Given the description of an element on the screen output the (x, y) to click on. 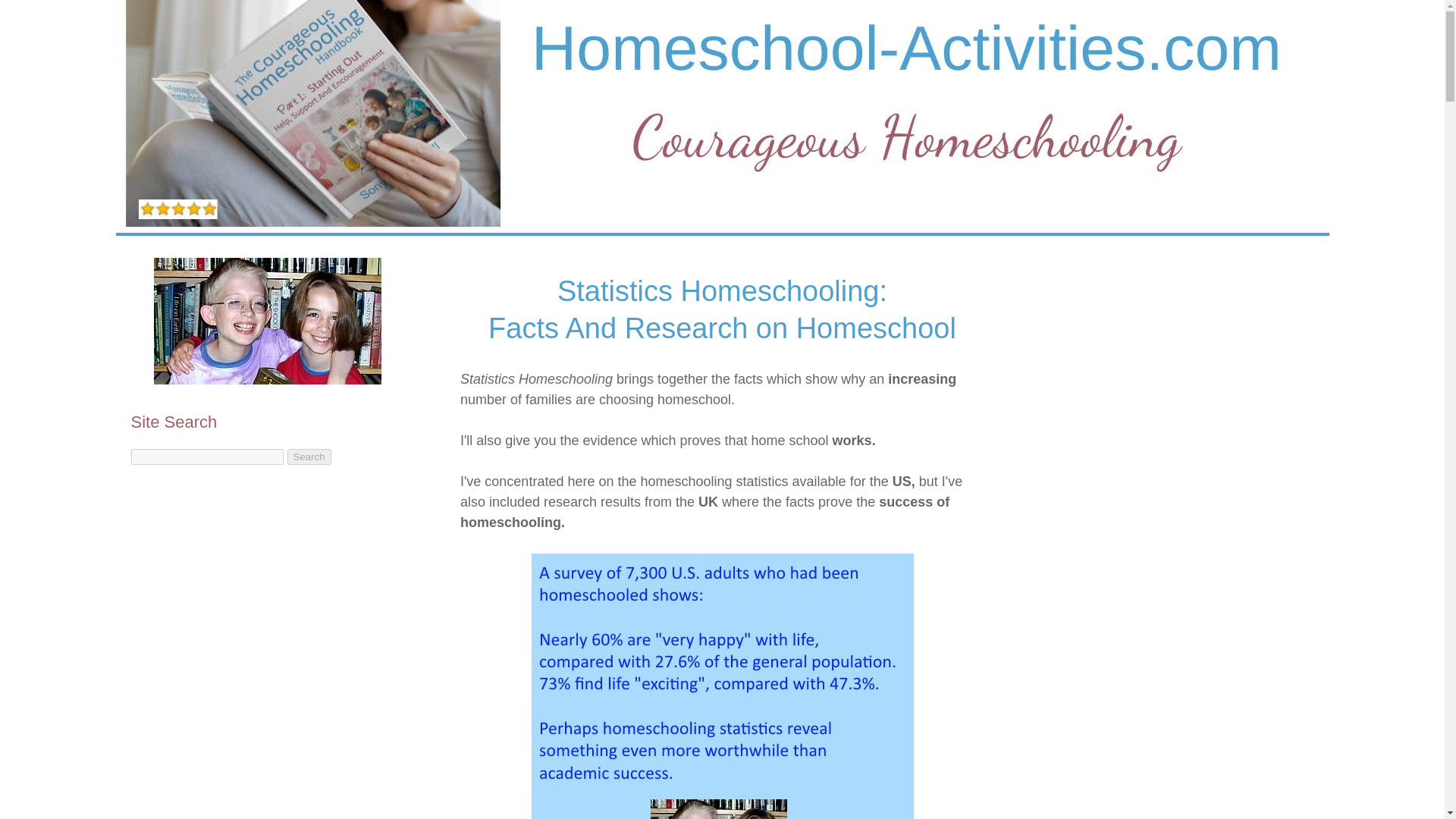
homeschooling statistics (721, 686)
My homeschool children (266, 320)
Search (308, 456)
